Given the description of an element on the screen output the (x, y) to click on. 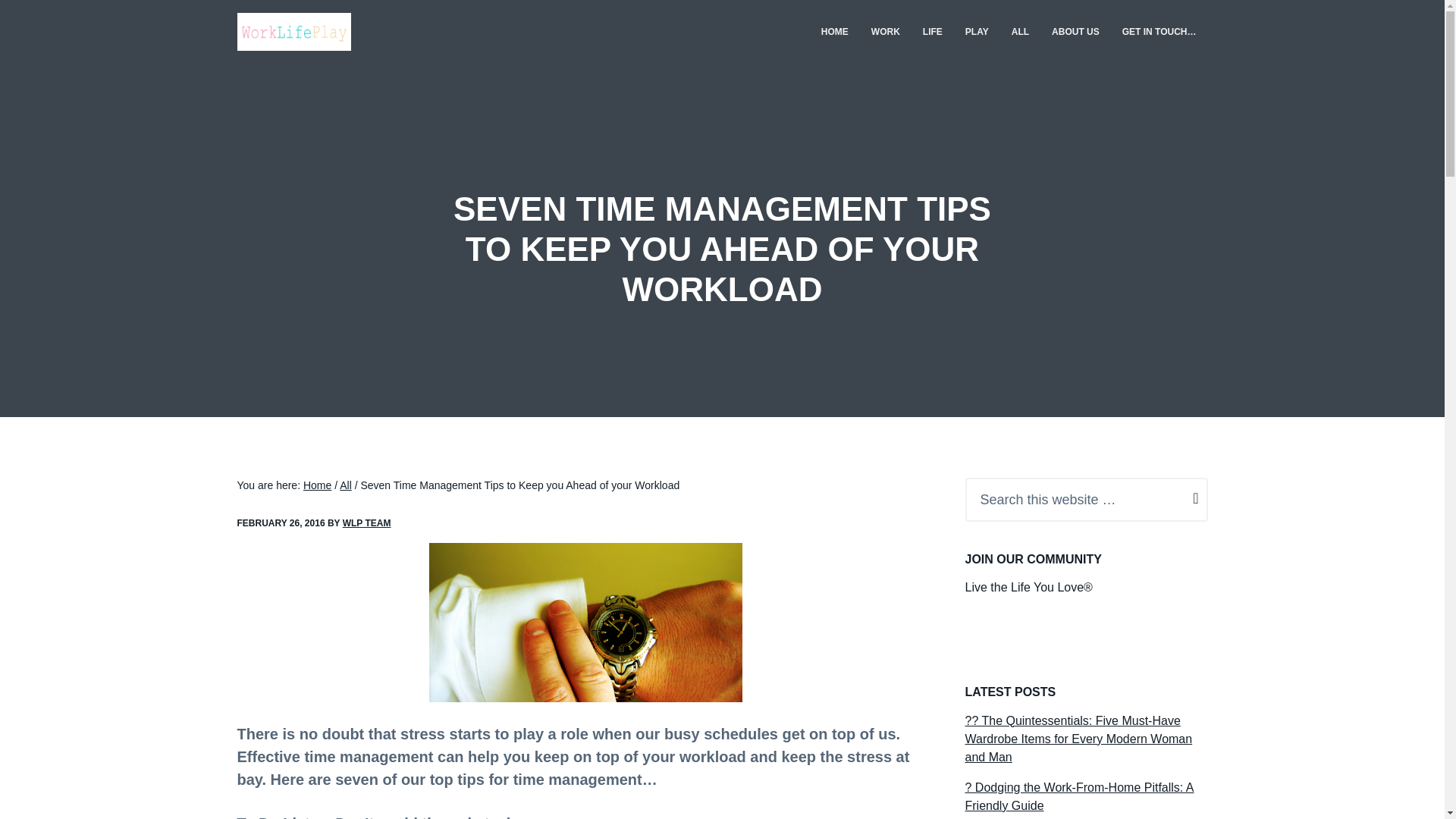
? Dodging the Work-From-Home Pitfalls: A Friendly Guide (1078, 796)
ABOUT US (1075, 31)
Search (44, 18)
WLP-Time-Management-Tips-590-300 (585, 621)
All (345, 485)
WLP TEAM (366, 522)
Home (316, 485)
WORKLIFEPLAY (286, 56)
